Given the description of an element on the screen output the (x, y) to click on. 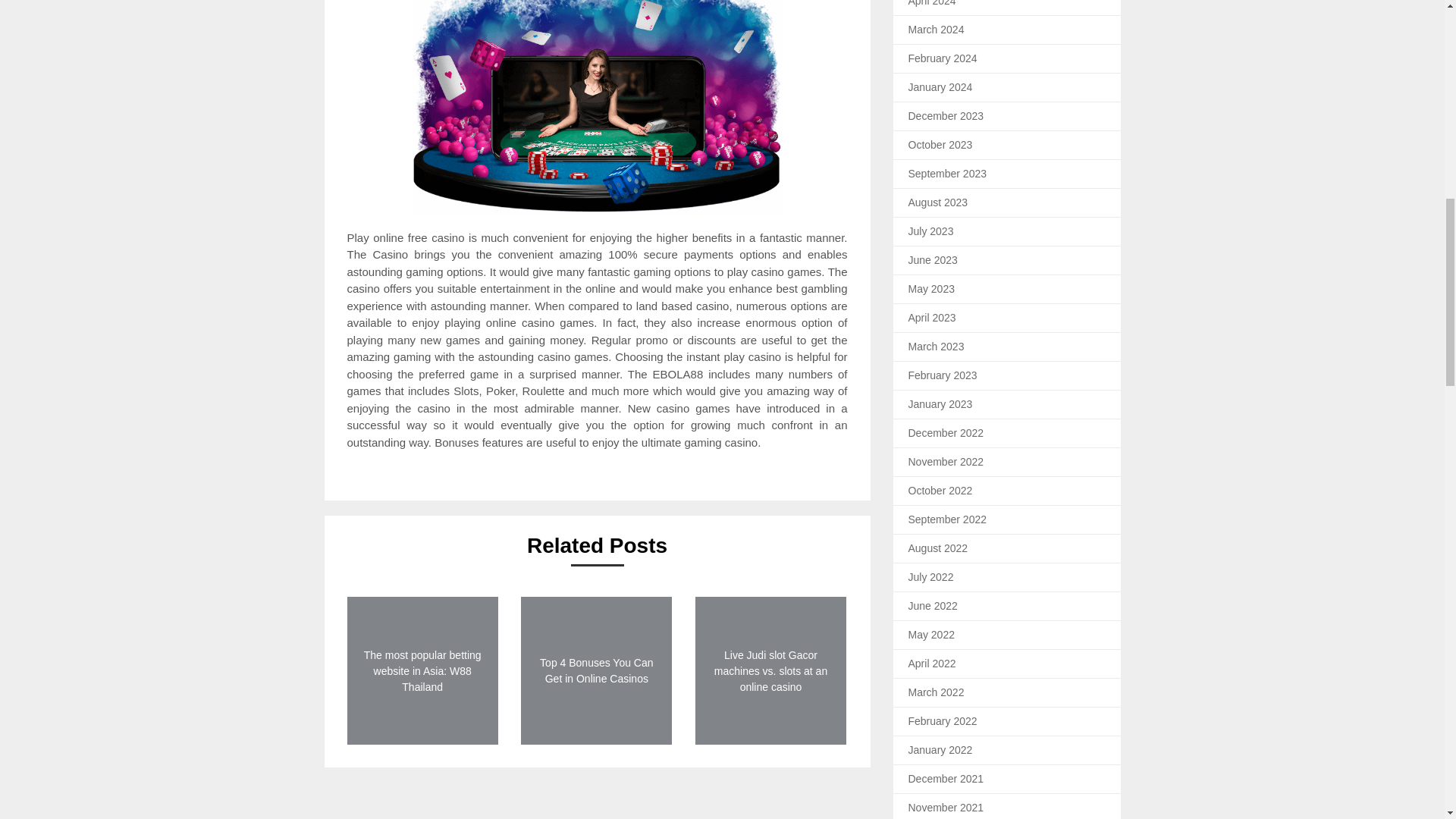
March 2023 (935, 345)
June 2023 (933, 259)
September 2023 (947, 173)
March 2024 (935, 28)
January 2024 (940, 86)
August 2023 (938, 201)
October 2023 (940, 143)
July 2023 (930, 230)
December 2023 (946, 114)
January 2023 (940, 403)
April 2024 (932, 2)
May 2023 (931, 287)
April 2023 (932, 316)
December 2022 (946, 431)
February 2024 (942, 57)
